Given the description of an element on the screen output the (x, y) to click on. 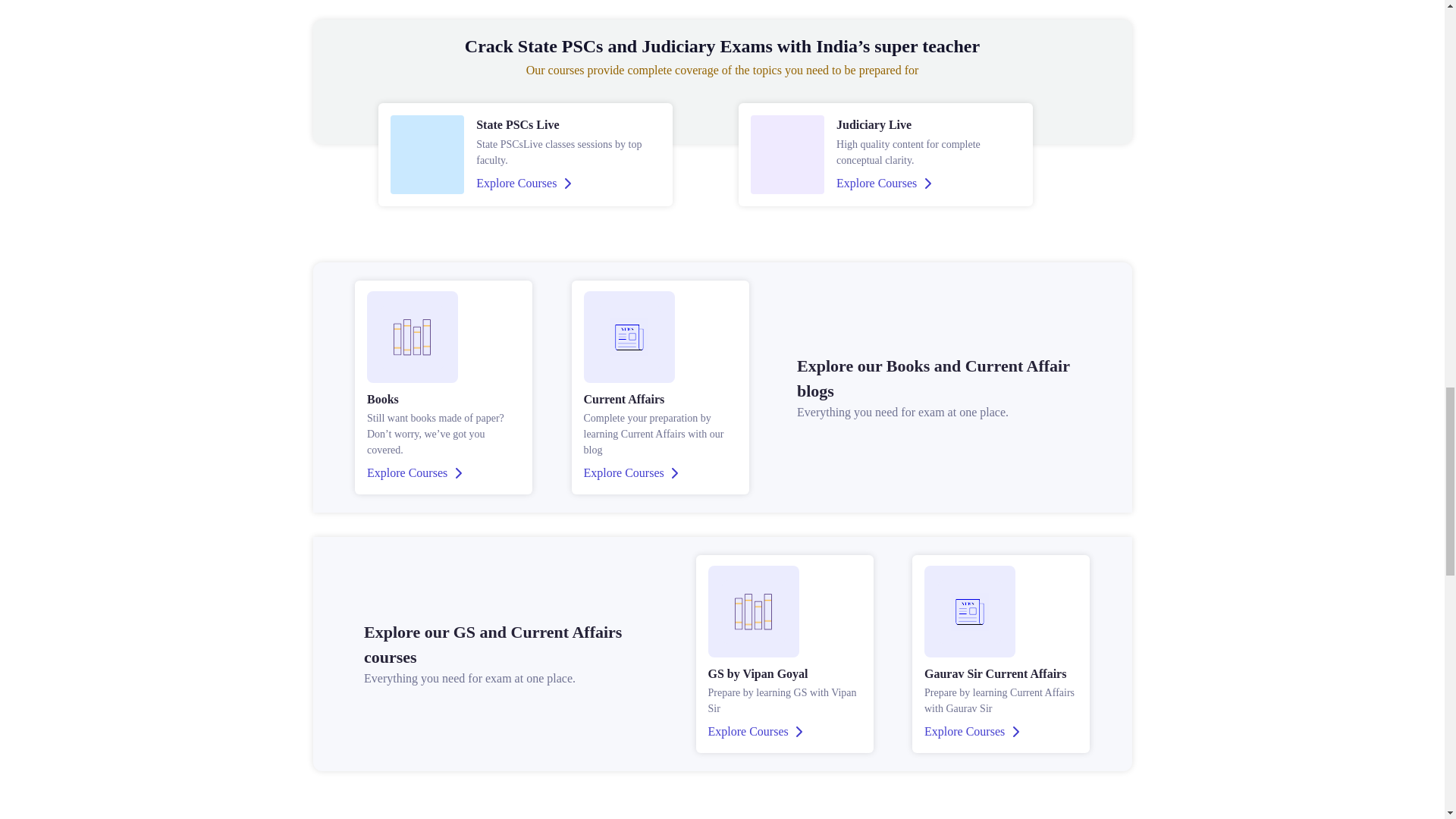
Explore Courses (630, 473)
Explore Courses (971, 731)
Explore Courses (413, 473)
Explore Courses (755, 731)
